Given the description of an element on the screen output the (x, y) to click on. 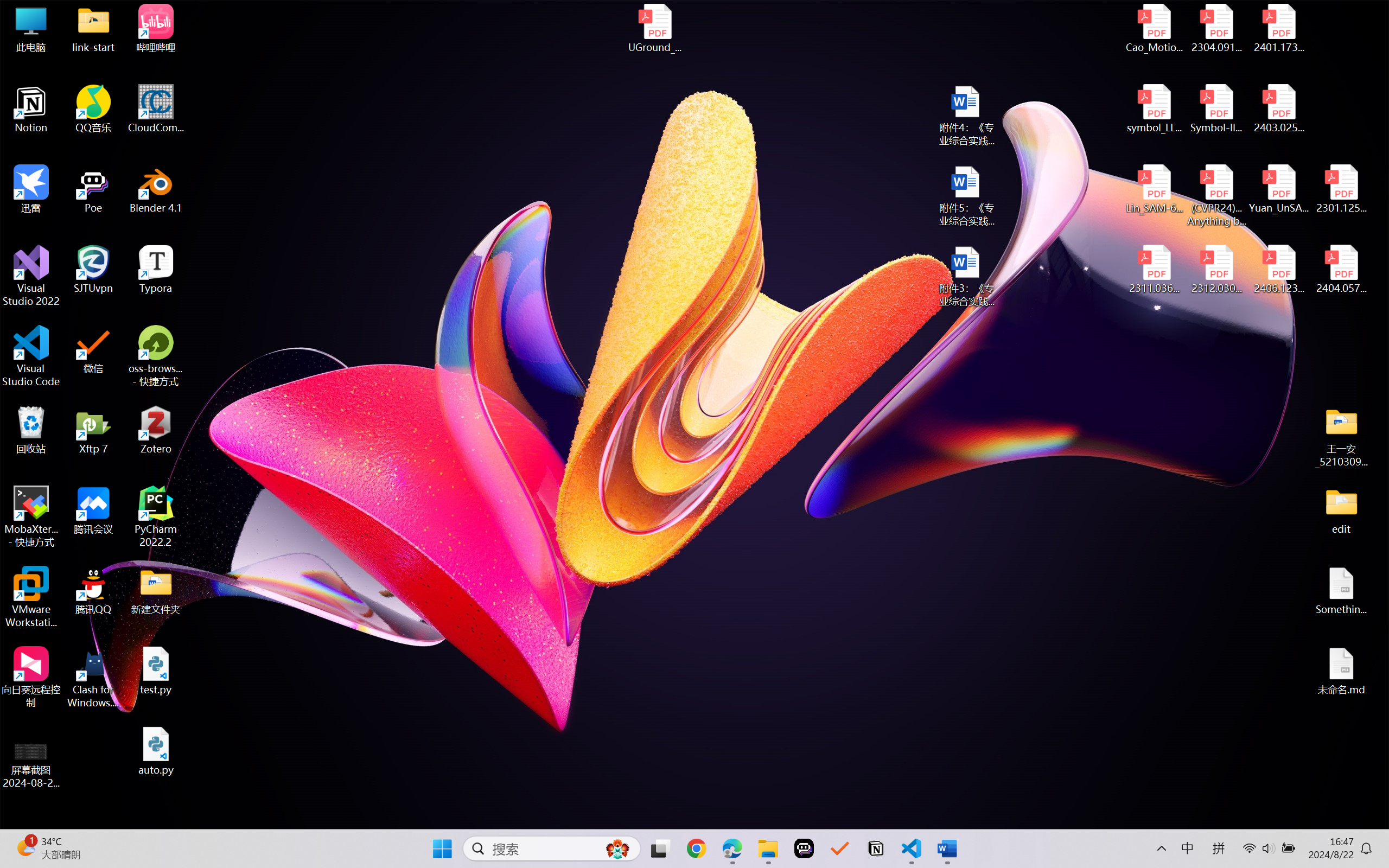
Spelling and Grammar Check Errors (113, 819)
